Given the description of an element on the screen output the (x, y) to click on. 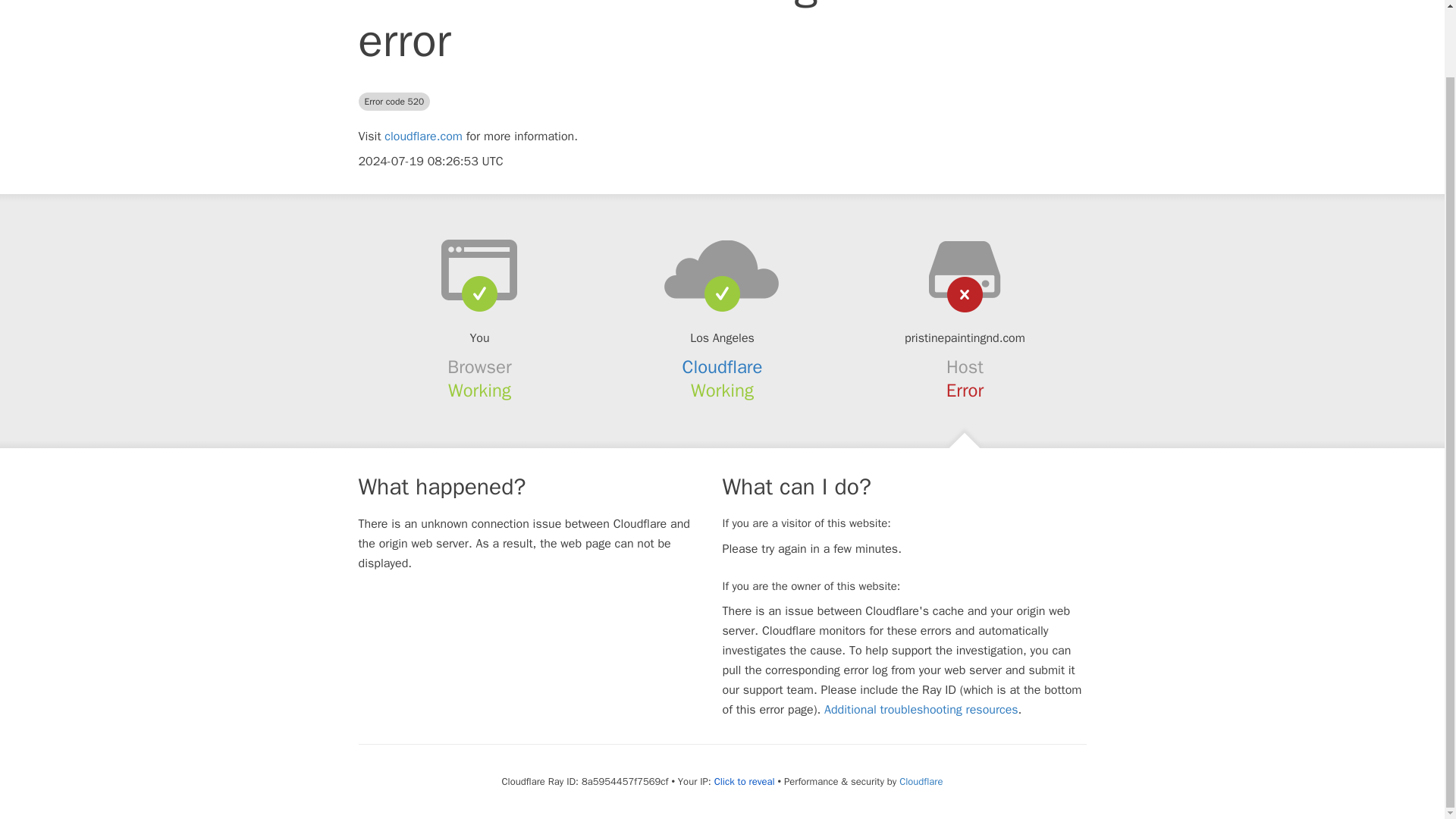
Cloudflare (722, 366)
Click to reveal (744, 781)
cloudflare.com (423, 136)
Cloudflare (920, 780)
Additional troubleshooting resources (920, 709)
